Given the description of an element on the screen output the (x, y) to click on. 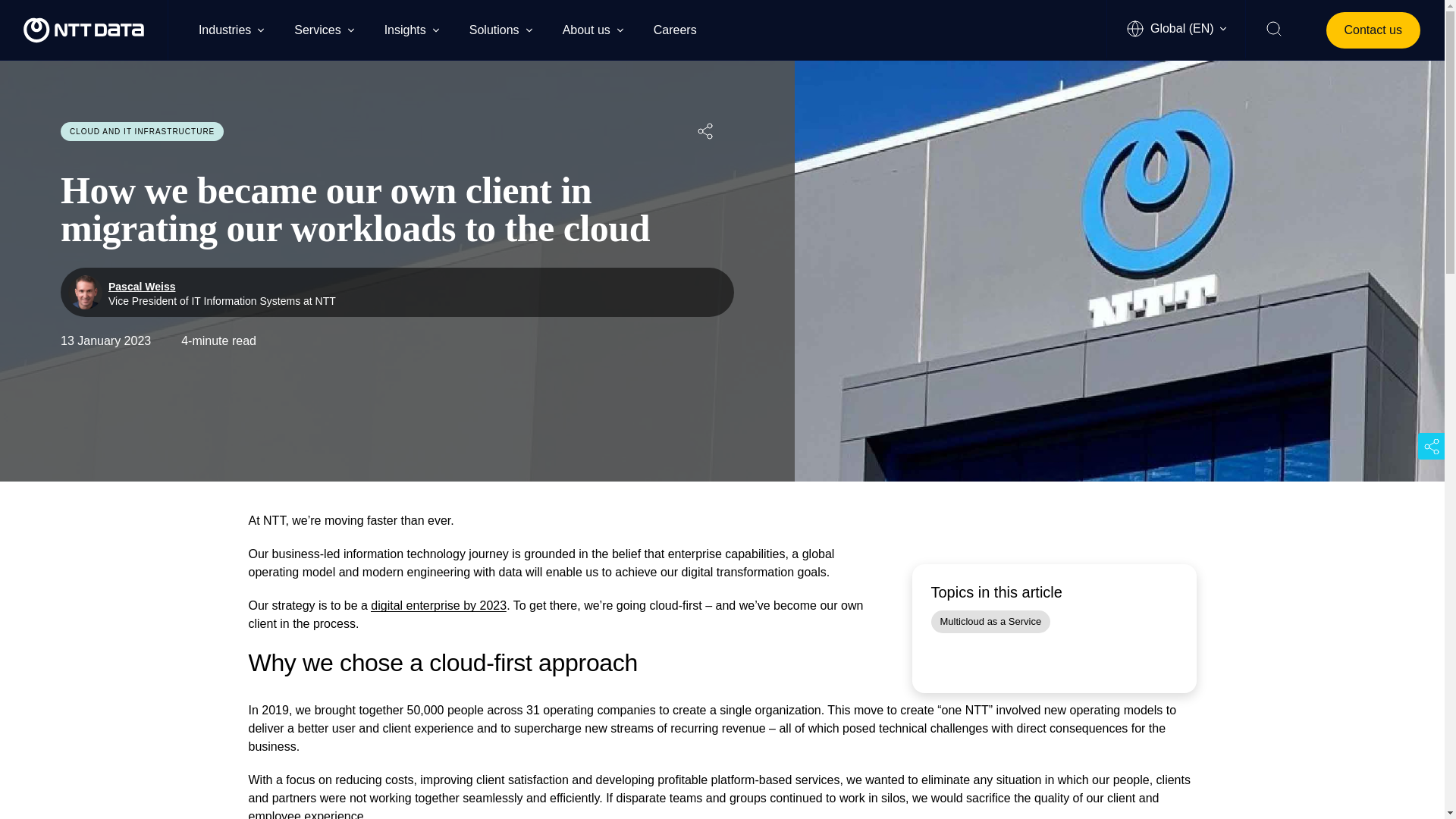
Contact us (1373, 30)
Services (323, 29)
Solutions (397, 291)
digital enterprise by 2023 (500, 29)
Multicloud as a Service (438, 604)
Industries (991, 621)
Careers (230, 29)
Insights (681, 29)
About us (411, 29)
